Given the description of an element on the screen output the (x, y) to click on. 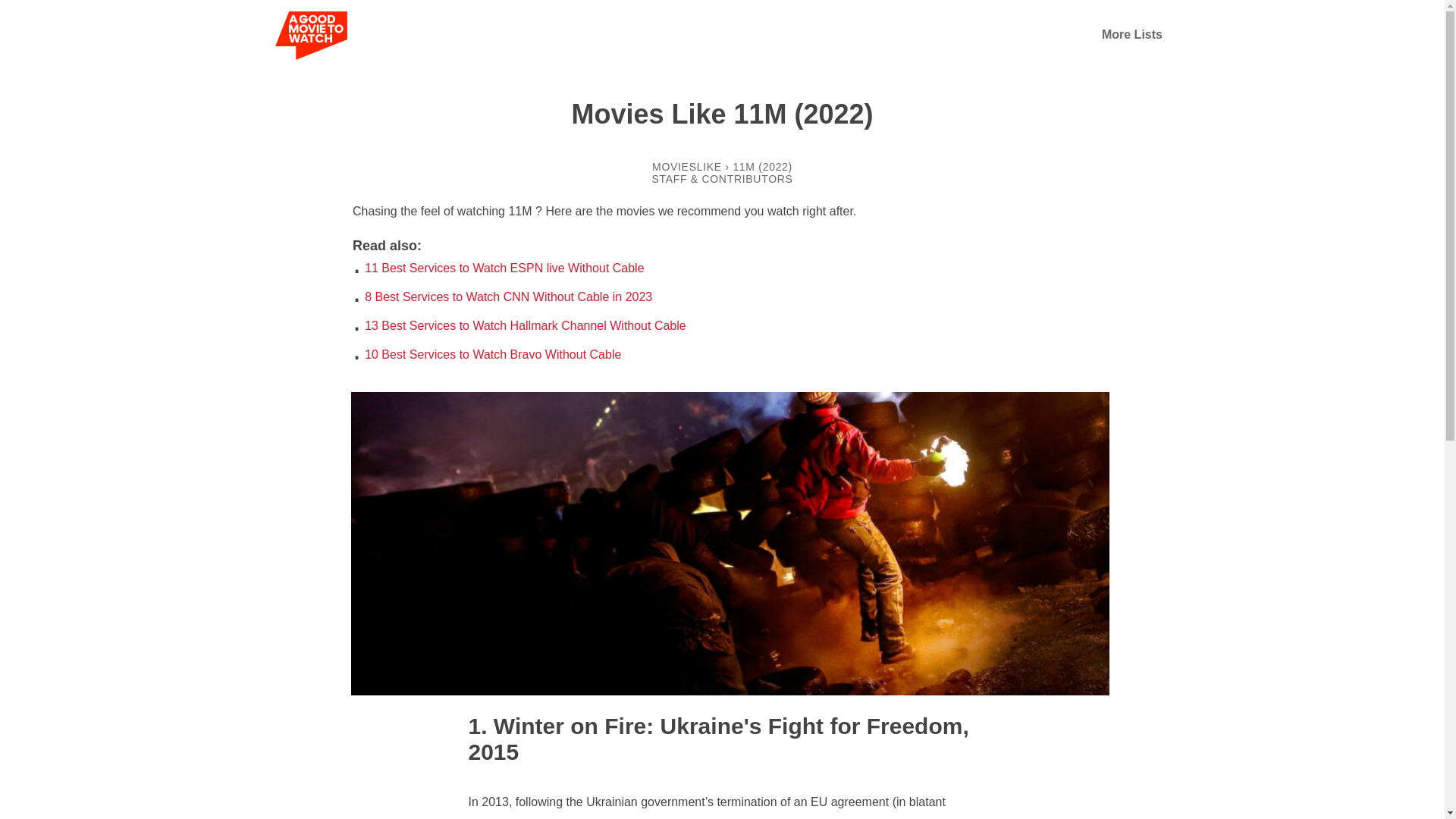
Winter on Fire: Ukraine's Fight for Freedom (715, 725)
More Lists (1132, 34)
